Given the description of an element on the screen output the (x, y) to click on. 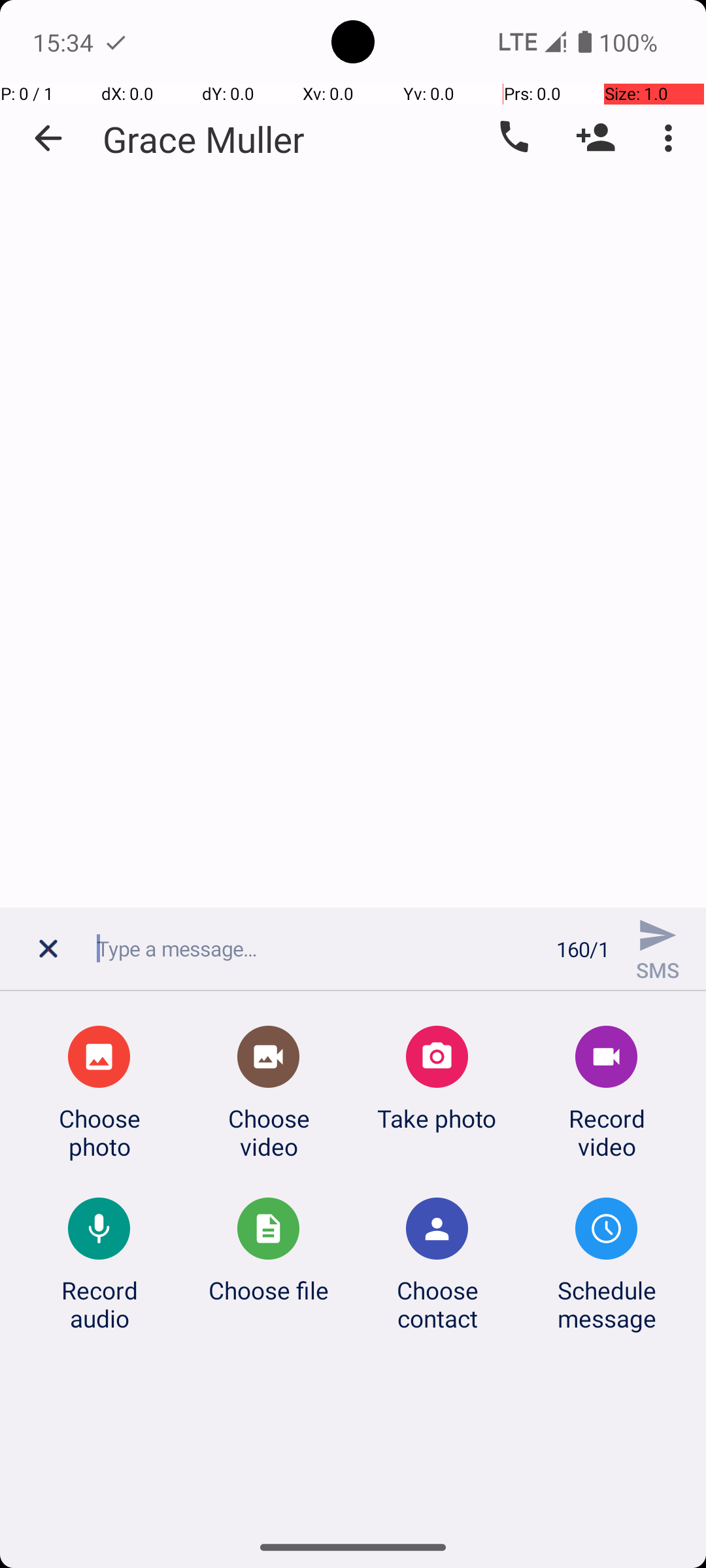
Grace Muller Element type: android.widget.TextView (203, 138)
